Given the description of an element on the screen output the (x, y) to click on. 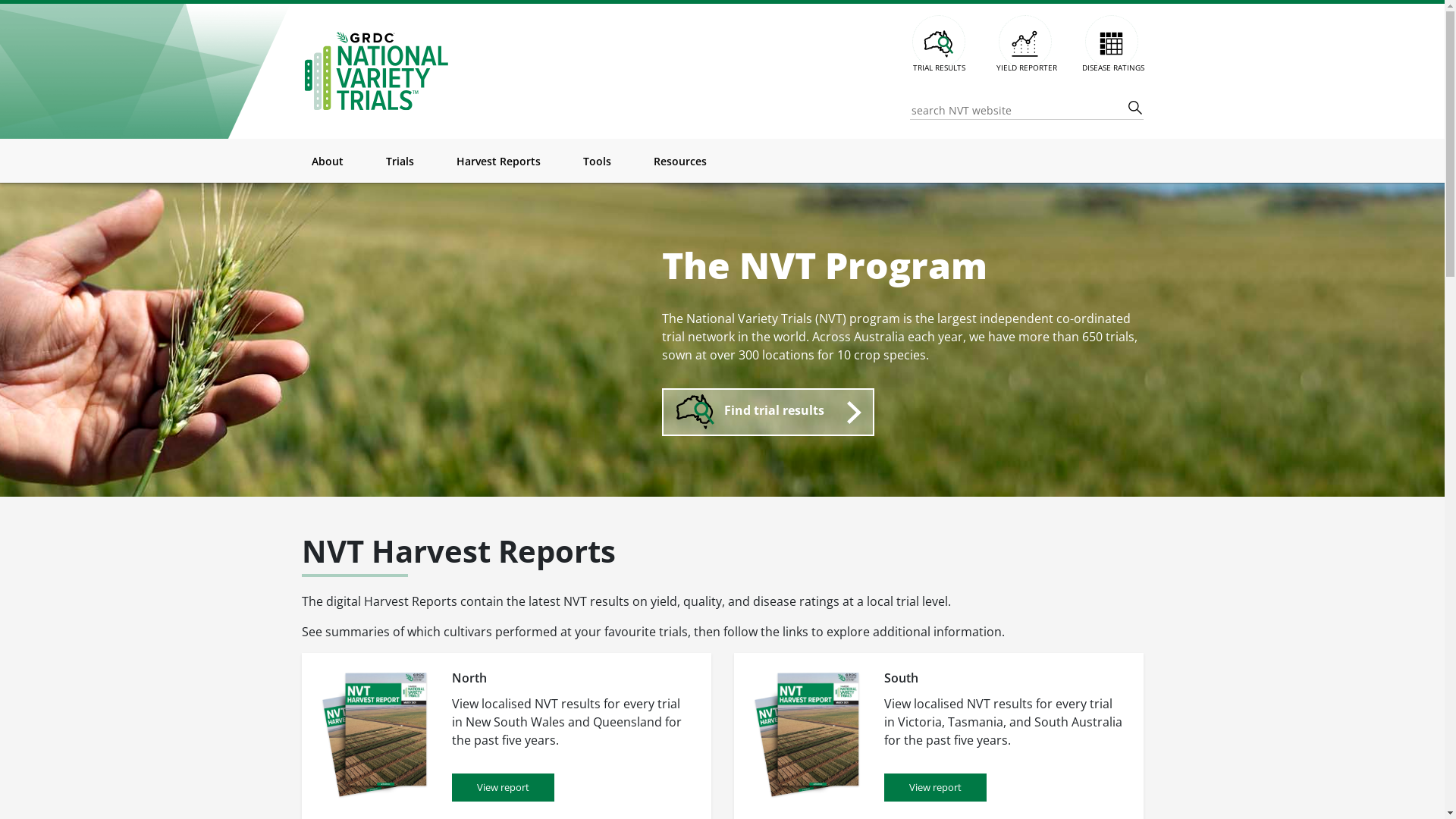
Resources Element type: text (680, 160)
Launch Trial Results Element type: text (937, 41)
Find trial results Element type: text (767, 411)
View report Element type: text (502, 787)
Launch Yield Reporter Element type: text (1024, 41)
View report Element type: text (935, 787)
Harvest Reports Element type: text (498, 160)
Tools Element type: text (596, 160)
Trials Element type: text (399, 160)
Launch Disease Rating Element type: text (1110, 41)
About Element type: text (326, 160)
